Given the description of an element on the screen output the (x, y) to click on. 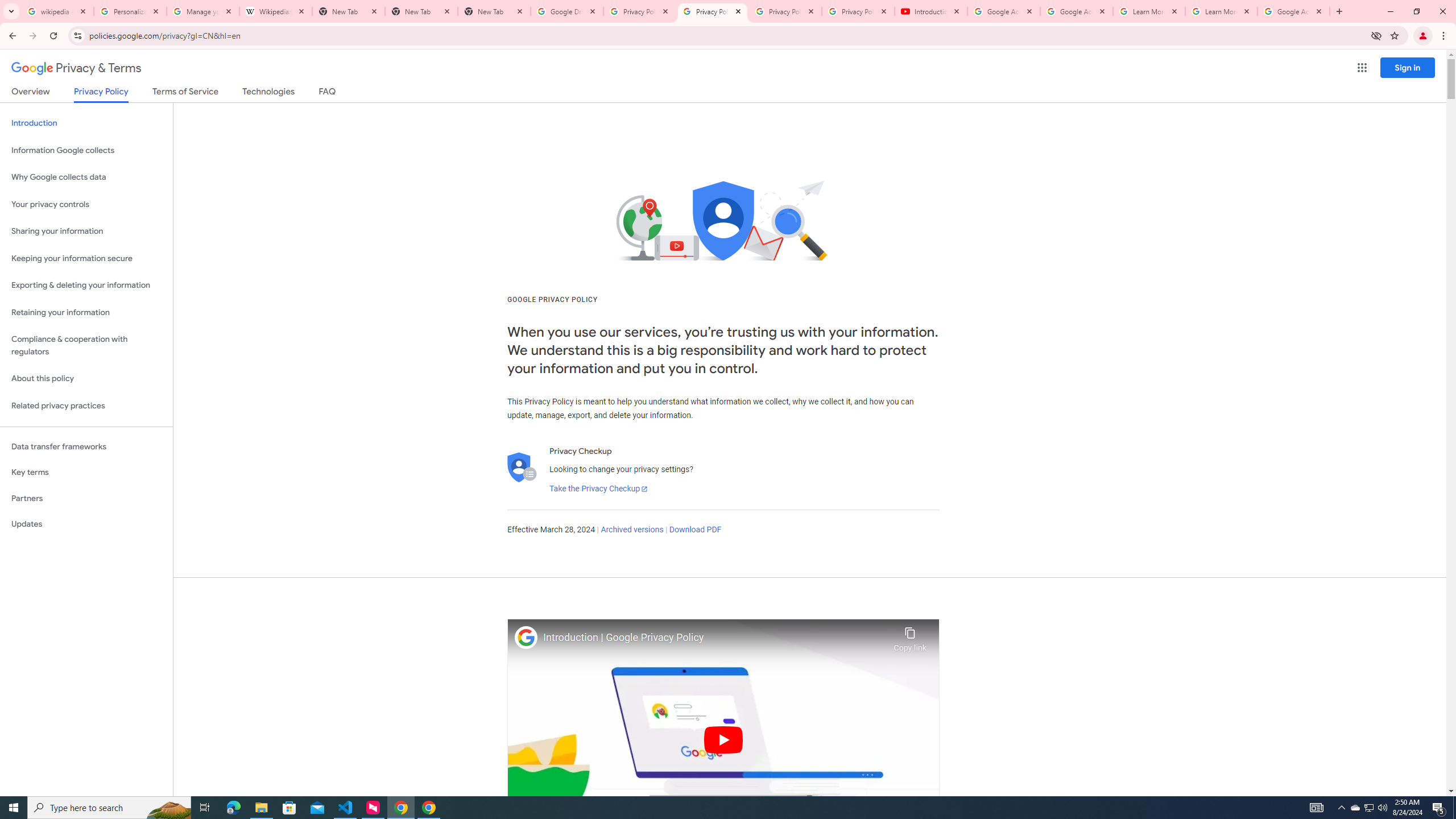
Exporting & deleting your information (86, 284)
New Tab (493, 11)
Compliance & cooperation with regulators (86, 345)
Keeping your information secure (86, 258)
Introduction (86, 122)
Overview (30, 93)
Technologies (268, 93)
